Given the description of an element on the screen output the (x, y) to click on. 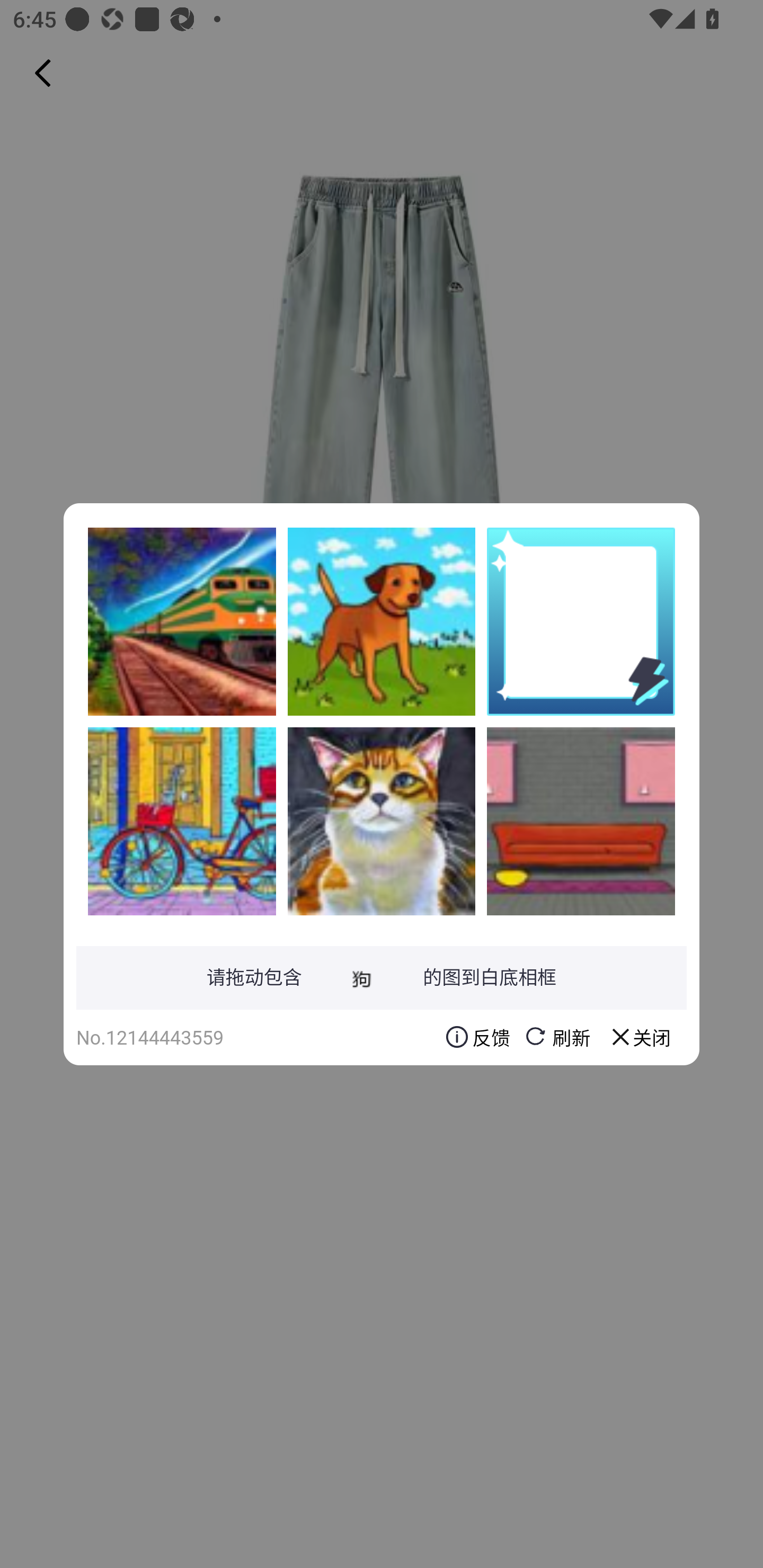
+Es7vyOTxQ+ (181, 621)
MdMHdEjL10BHw9FjtQdoKWtm5 (181, 820)
0y09hfEi76s9hxIou8AVnl8Ihr0B3ZGaF (381, 820)
